Given the description of an element on the screen output the (x, y) to click on. 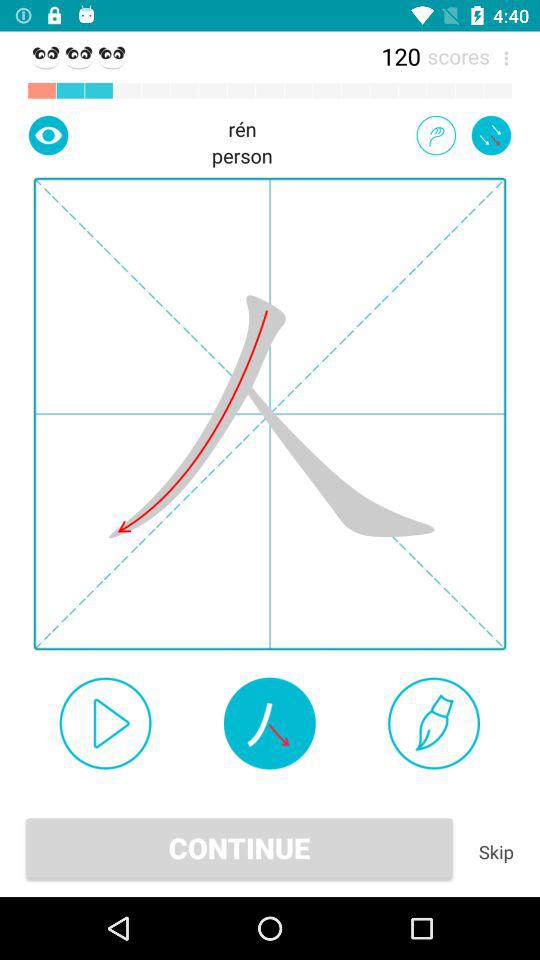
select the item to the left of the skip icon (239, 847)
